Given the description of an element on the screen output the (x, y) to click on. 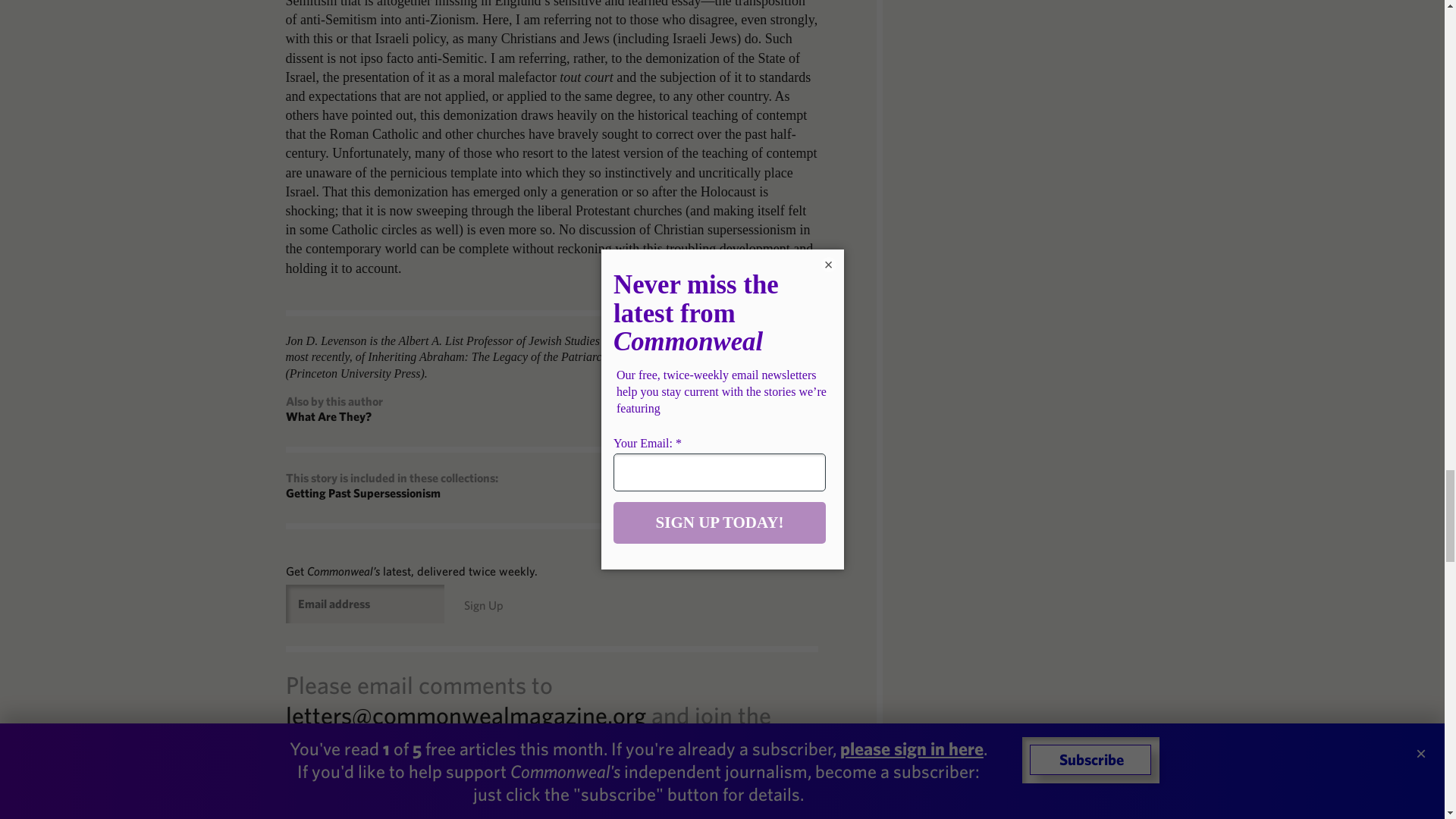
Sign Up (484, 605)
